Given the description of an element on the screen output the (x, y) to click on. 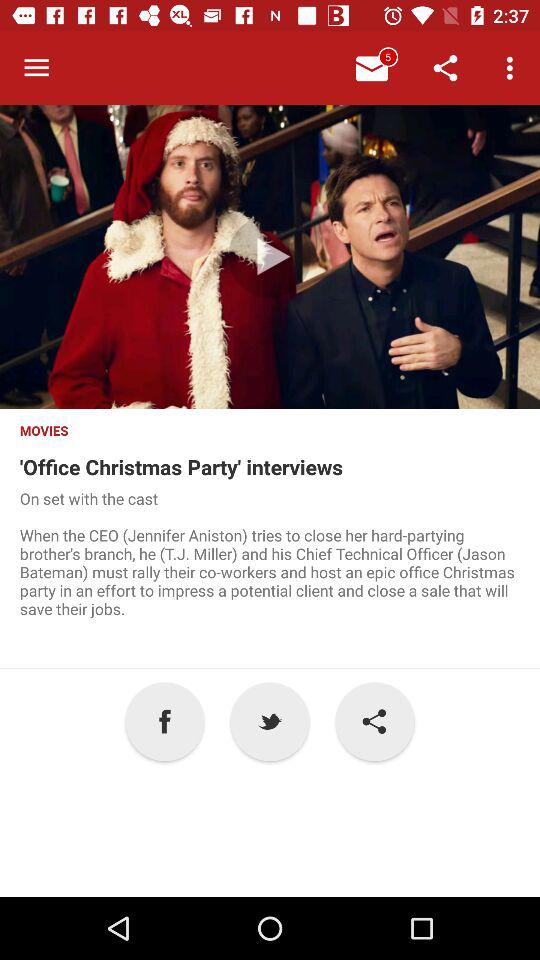
turn on icon next to the ! icon (269, 721)
